Given the description of an element on the screen output the (x, y) to click on. 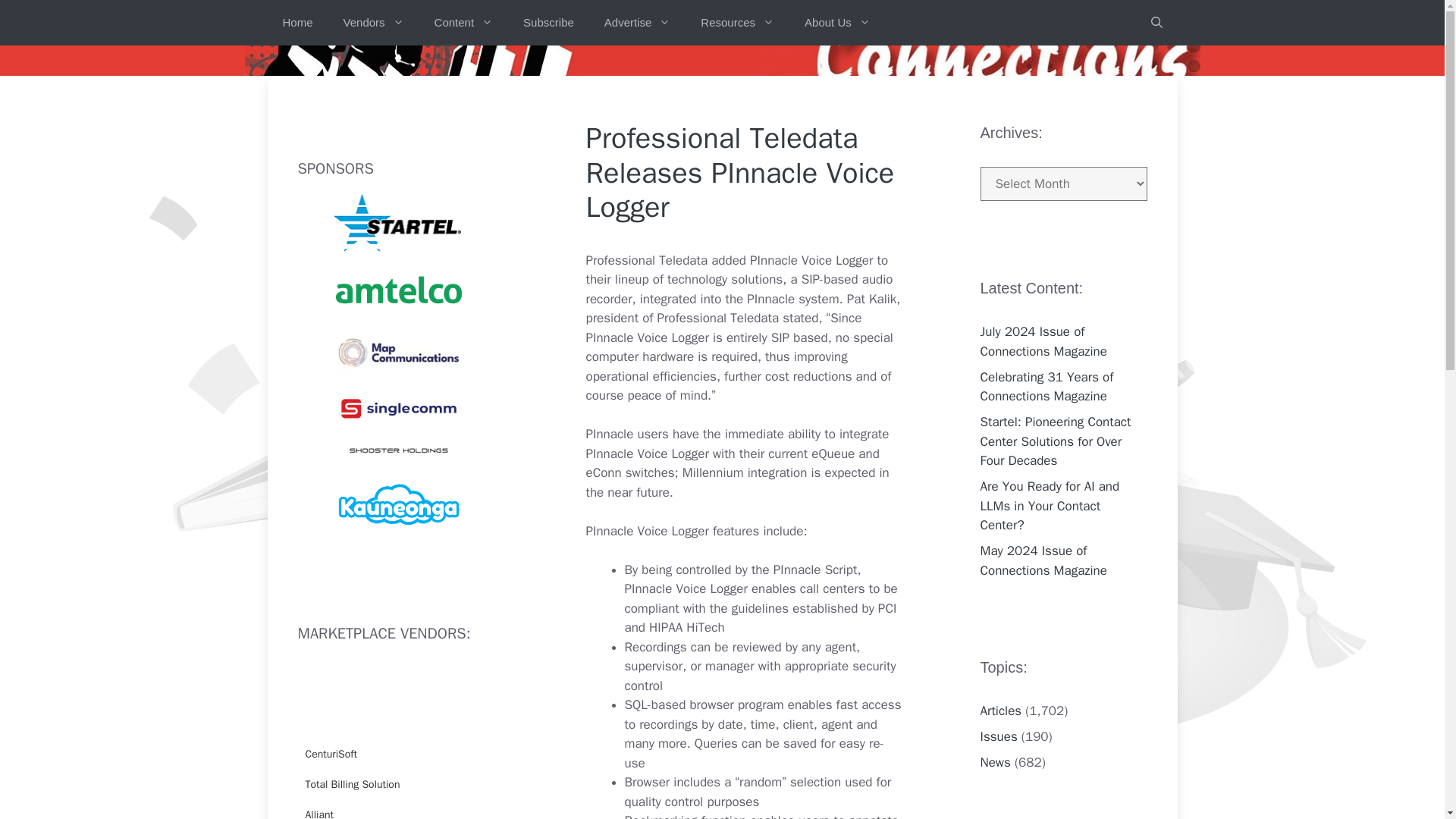
Home (296, 22)
Advertise (637, 22)
Content (463, 22)
Vendors (374, 22)
About Us (837, 22)
Subscribe (548, 22)
Resources (737, 22)
